Given the description of an element on the screen output the (x, y) to click on. 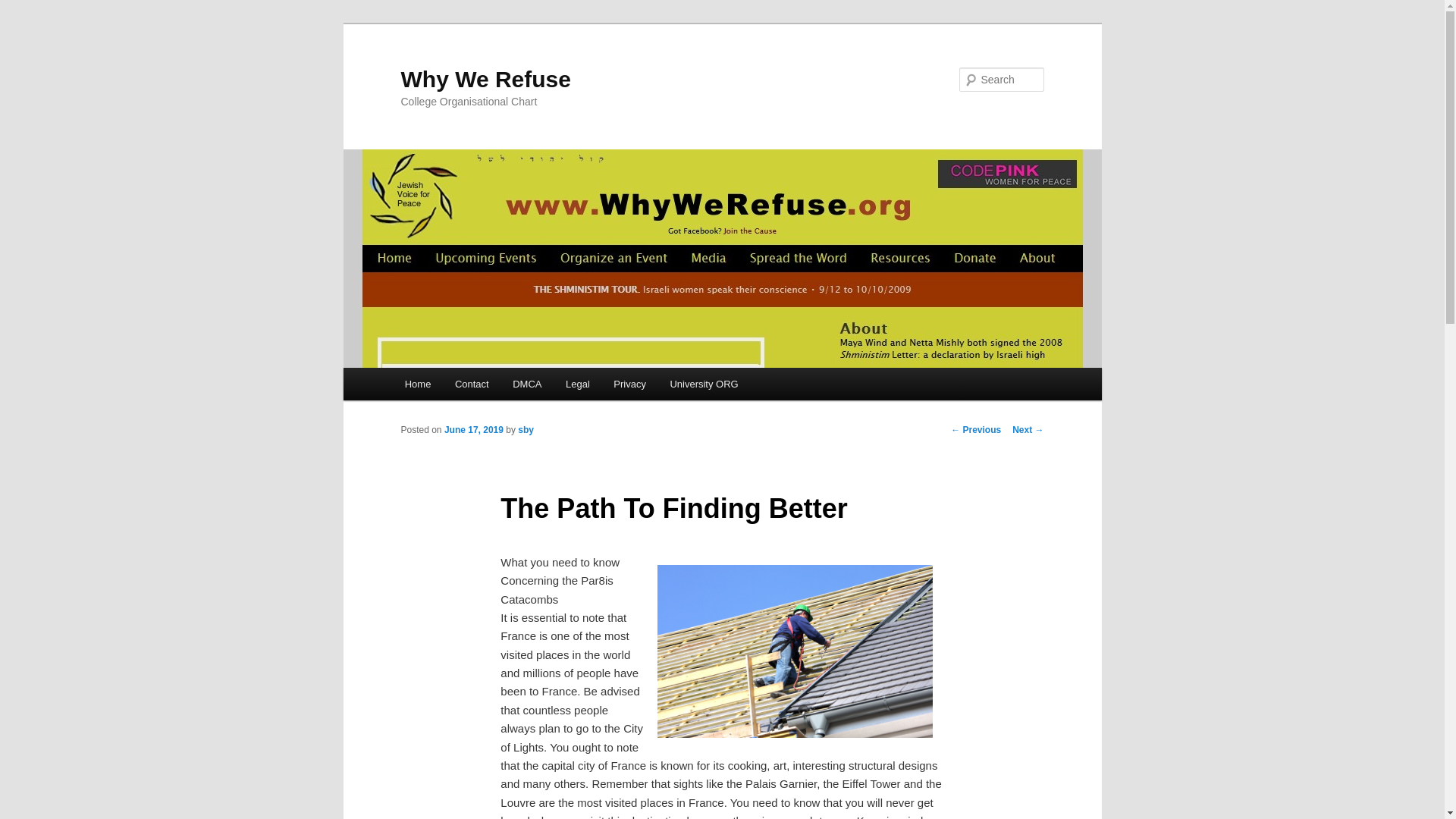
Legal (577, 383)
Why We Refuse (485, 78)
University ORG (704, 383)
June 17, 2019 (473, 429)
Search (21, 11)
Contact (471, 383)
Home (417, 383)
DMCA (526, 383)
View all posts by sby (526, 429)
